Given the description of an element on the screen output the (x, y) to click on. 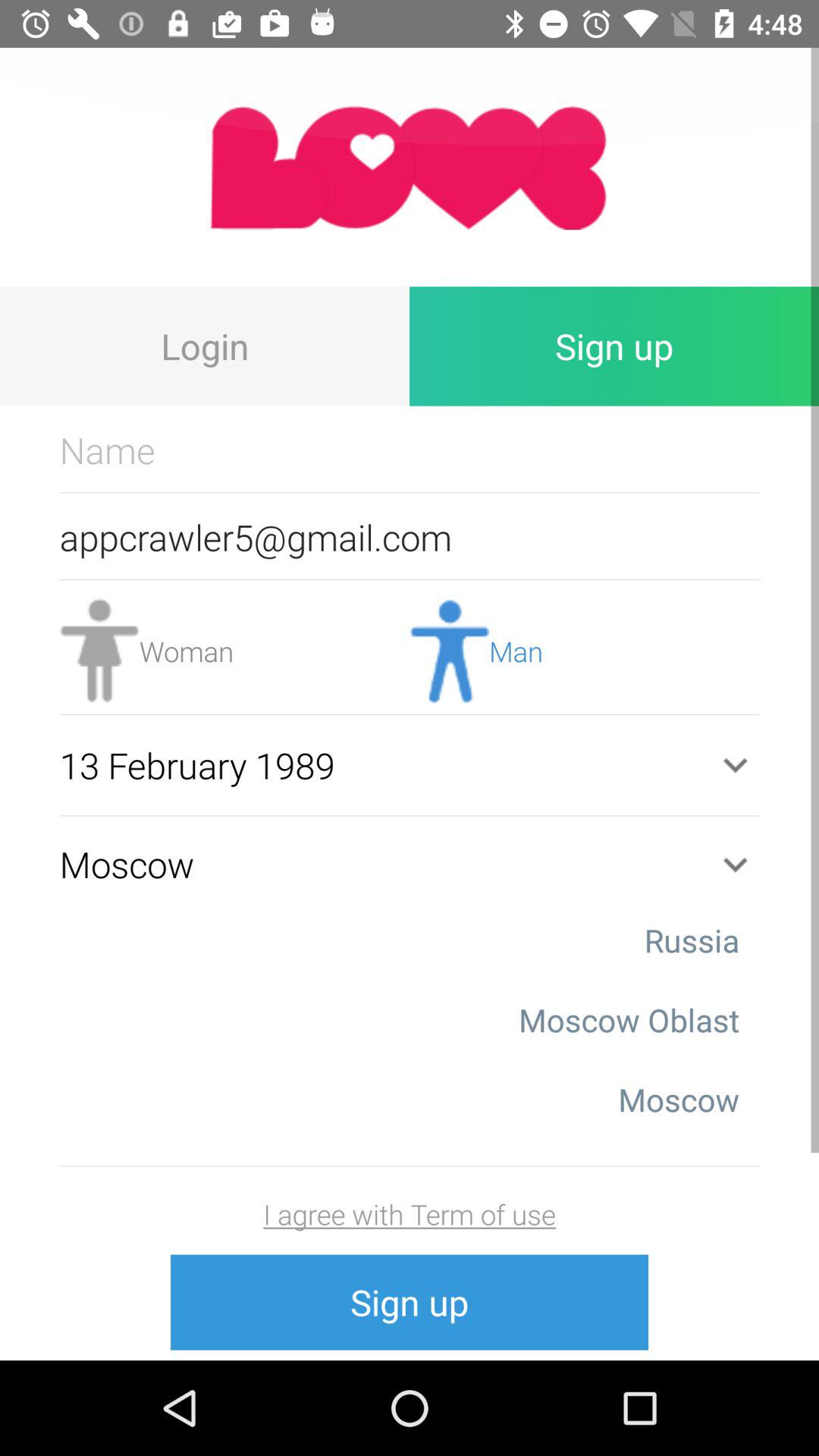
open this card (409, 166)
